Given the description of an element on the screen output the (x, y) to click on. 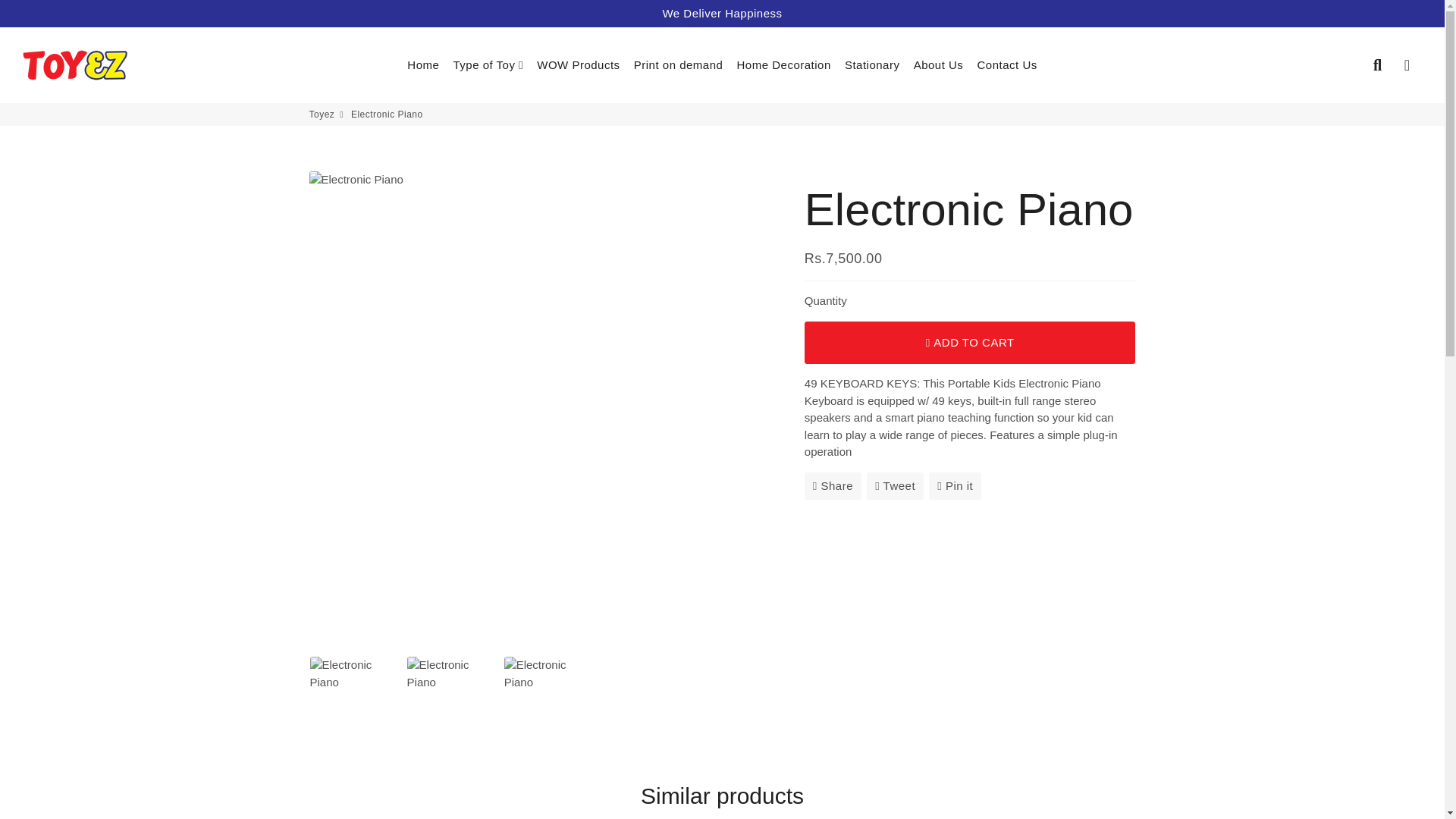
Share on Facebook (833, 485)
Tweet on Twitter (894, 485)
Pin on Pinterest (954, 485)
